Given the description of an element on the screen output the (x, y) to click on. 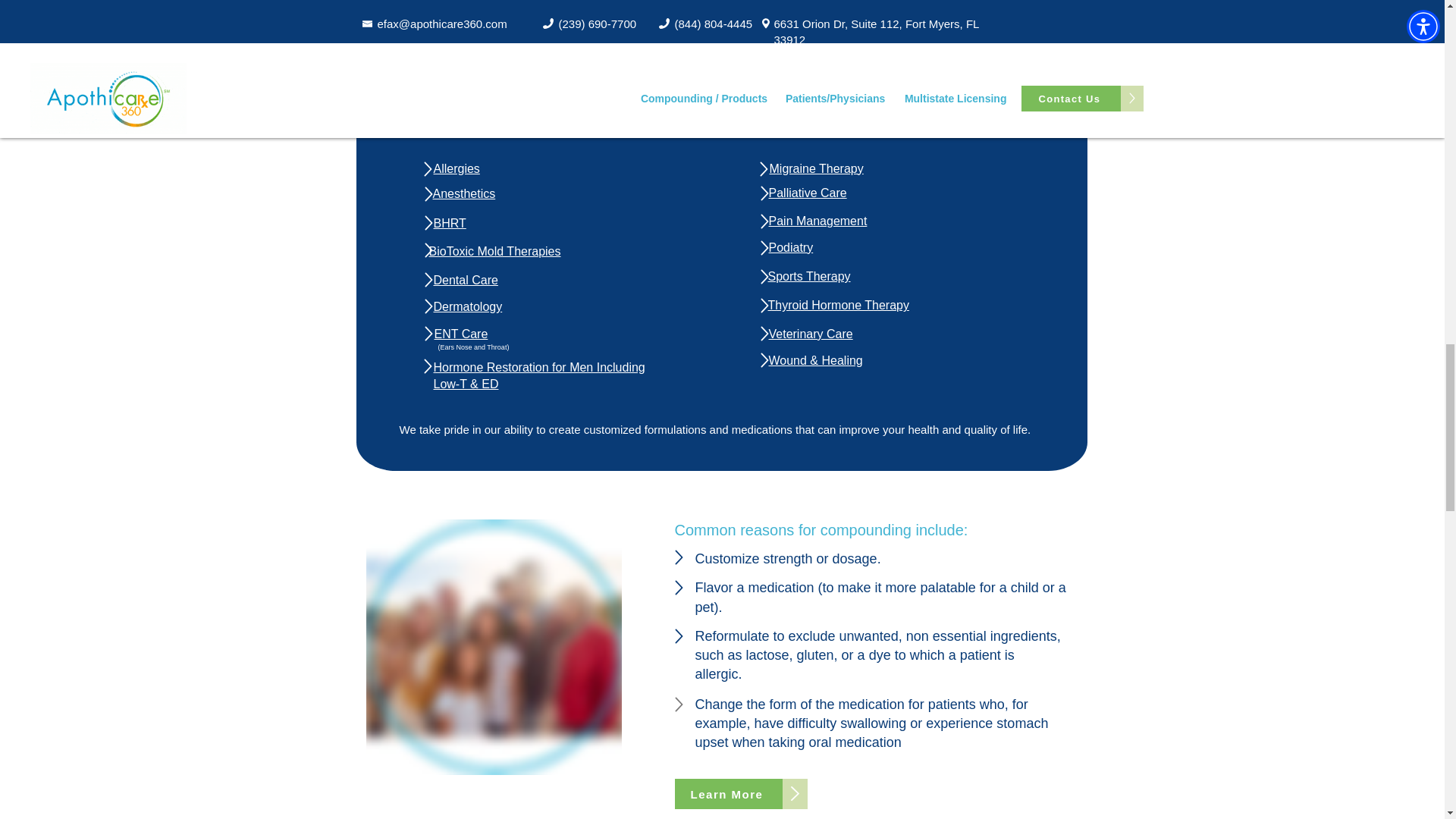
Veterinary Care (810, 333)
ENT Care (460, 333)
Pain Management (817, 220)
Anesthetics (463, 193)
Dental Care (465, 279)
BHRT (449, 223)
Sports Therapy (808, 276)
Dermatology (467, 306)
Migraine Therapy (815, 168)
Allergies (456, 168)
